Given the description of an element on the screen output the (x, y) to click on. 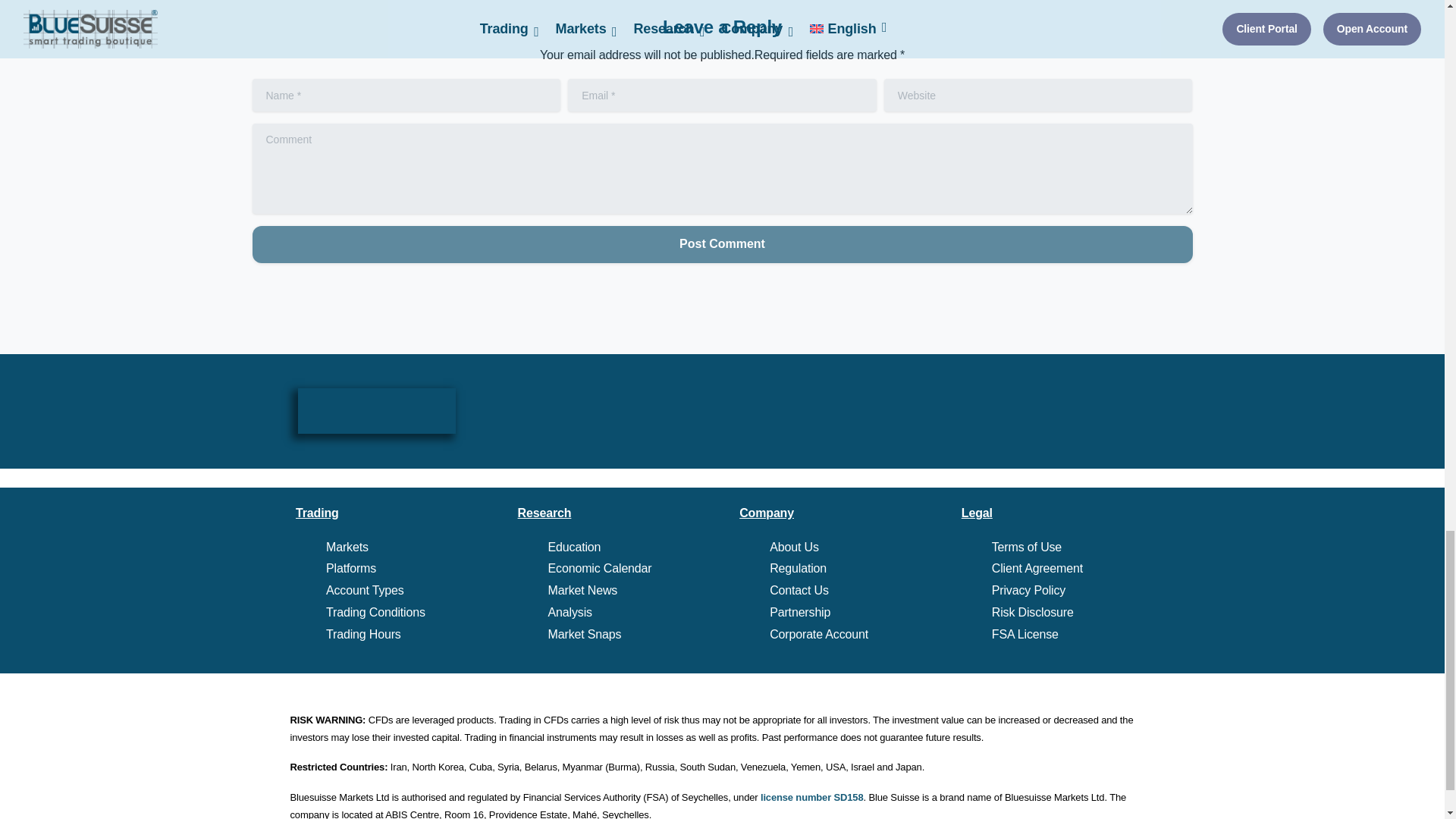
Post Comment (721, 244)
